Given the description of an element on the screen output the (x, y) to click on. 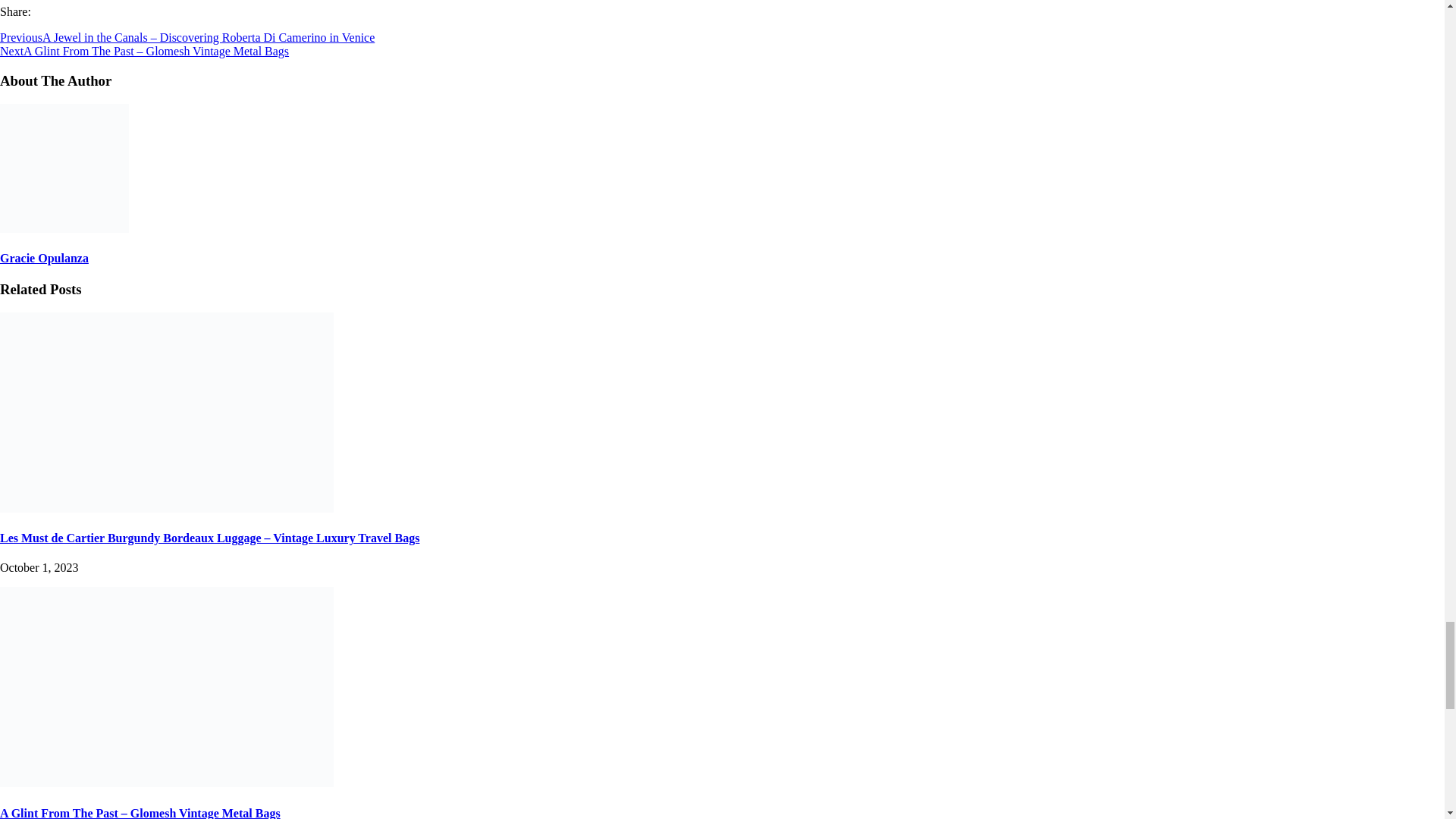
View all posts by Gracie Opulanza (44, 257)
Gracie Opulanza (44, 257)
